Given the description of an element on the screen output the (x, y) to click on. 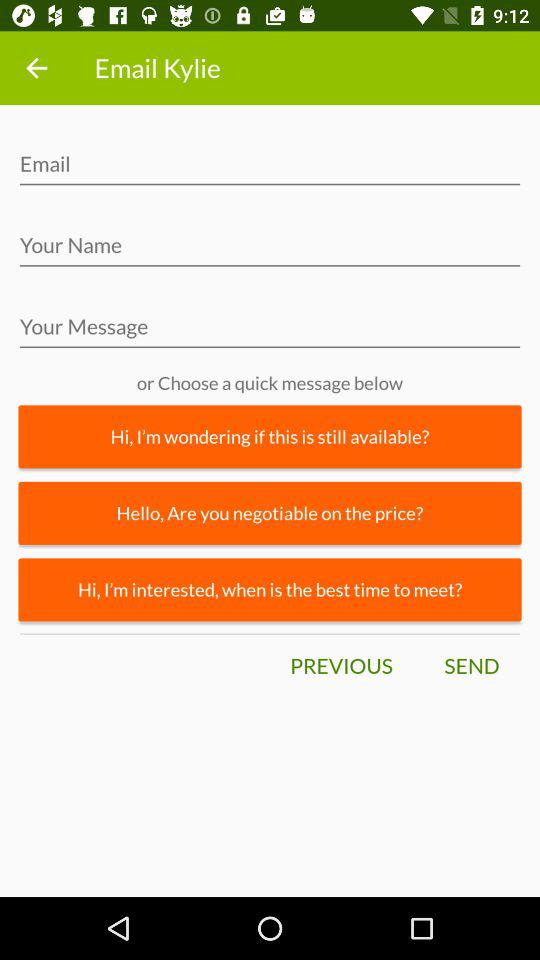
click the item next to the email kylie (36, 68)
